Given the description of an element on the screen output the (x, y) to click on. 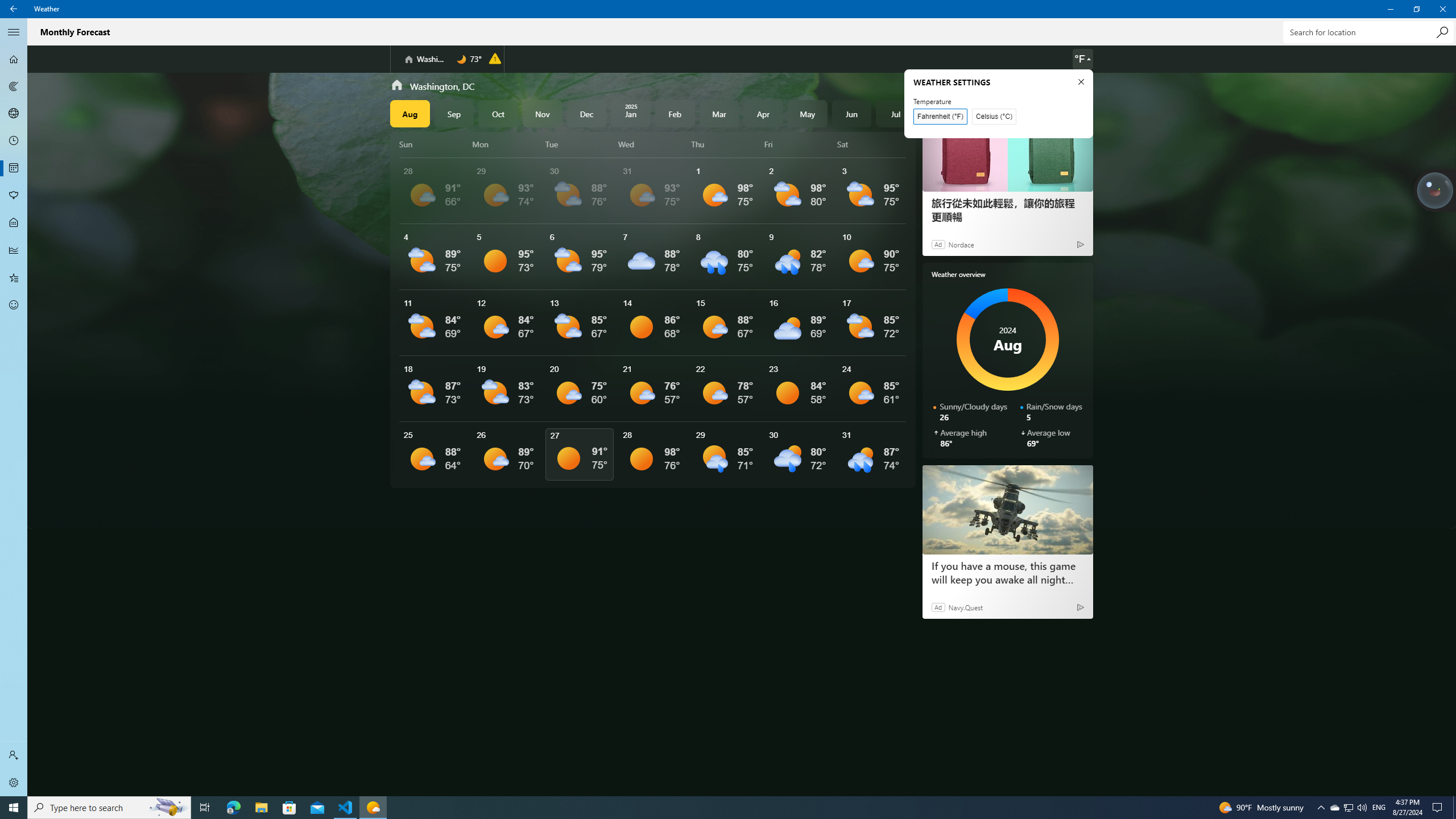
Weather - 1 running window (373, 807)
Forecast - Not Selected (13, 58)
Favorites - Not Selected (13, 277)
Life - Not Selected (13, 222)
Maps - Not Selected (13, 85)
Back (13, 9)
